Given the description of an element on the screen output the (x, y) to click on. 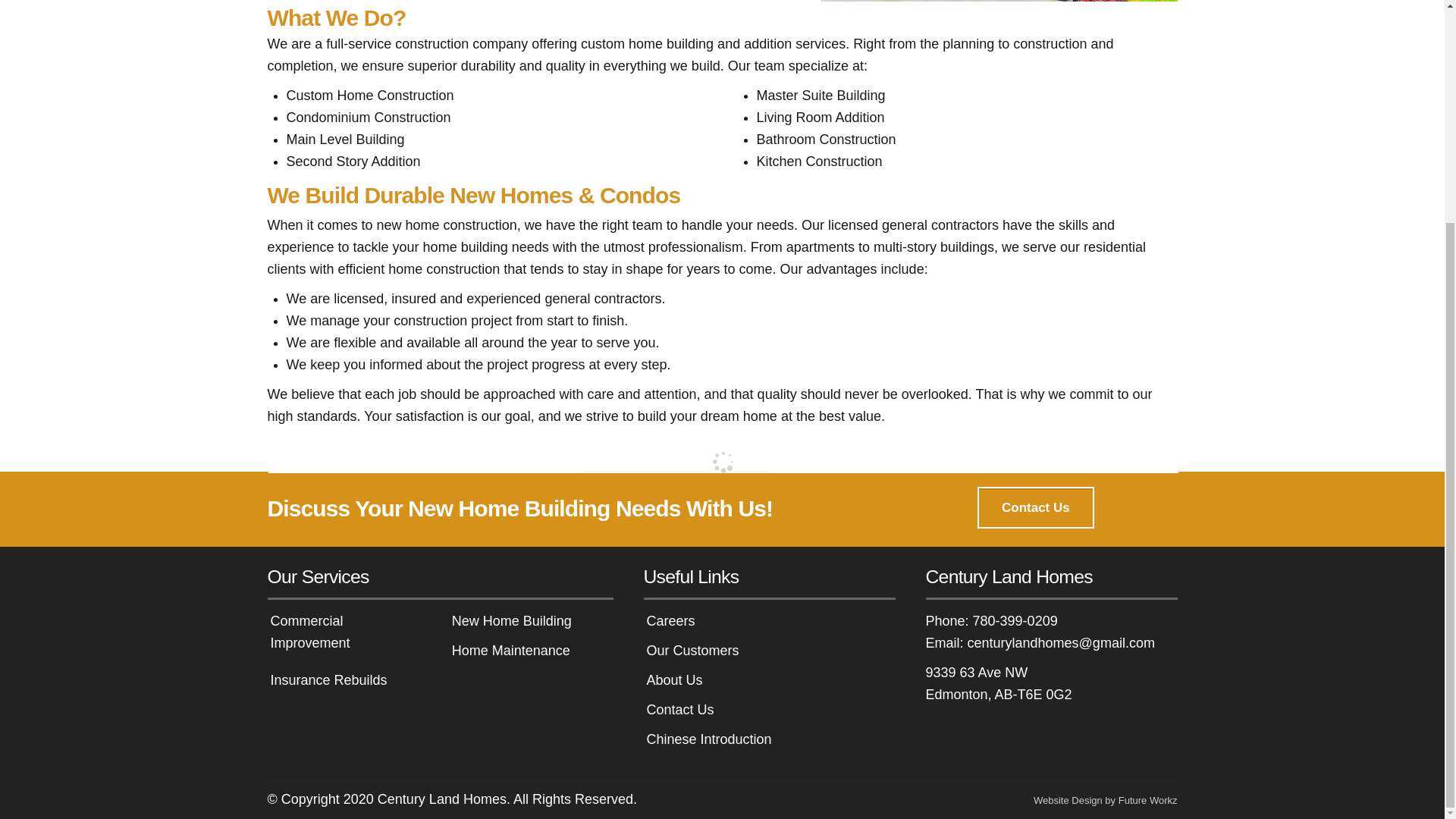
Home Maintenance (510, 650)
New Home Building (511, 620)
Contact Us (1034, 507)
Contact Us (1034, 507)
Commercial Improvement (309, 631)
